Given the description of an element on the screen output the (x, y) to click on. 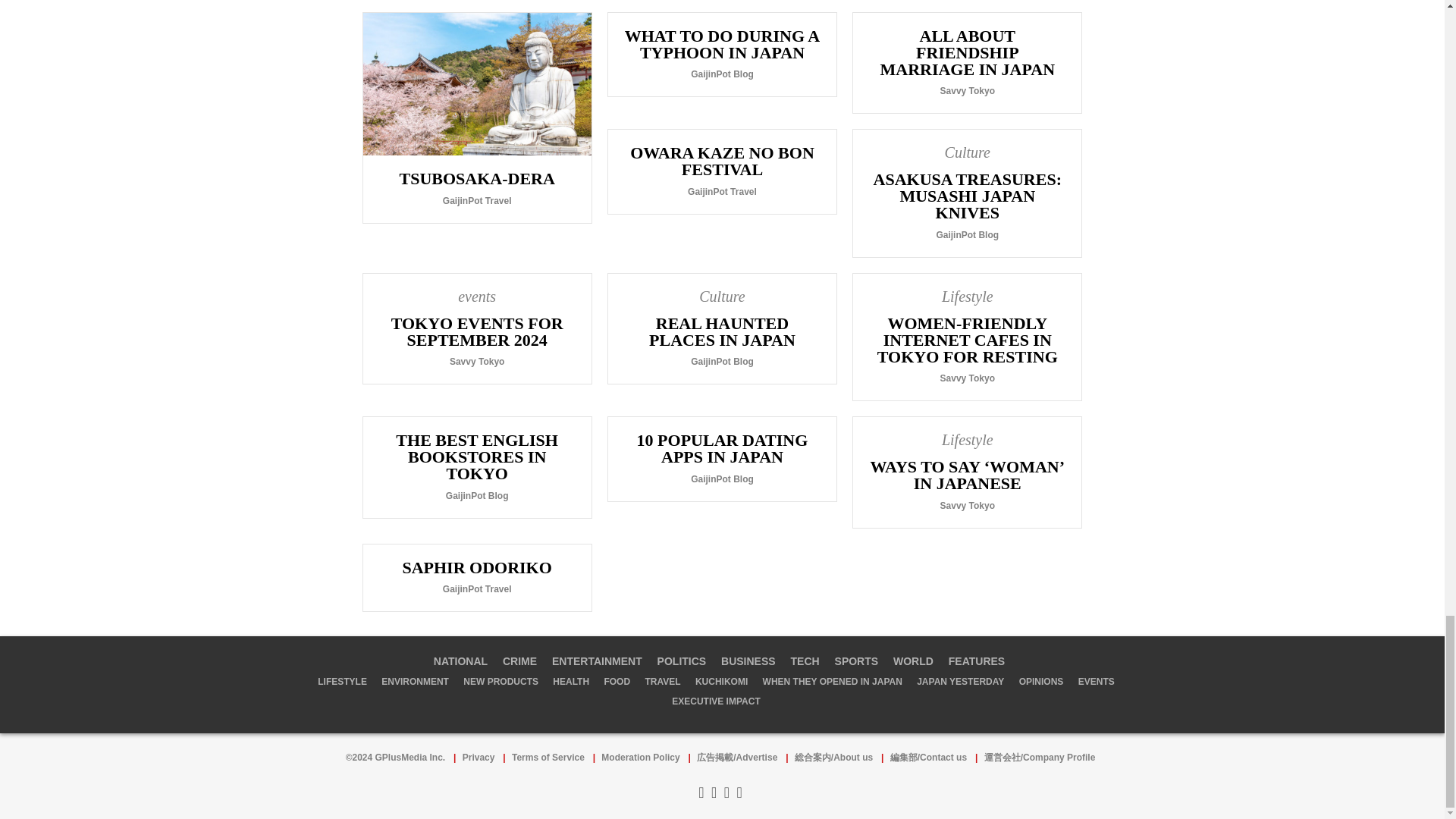
What To Do During A Typhoon in Japan (721, 54)
Real Haunted Places in Japan (721, 328)
The Best English Bookstores in Tokyo (476, 466)
Asakusa Treasures: Musashi Japan Knives (967, 192)
Tokyo Events For September 2024 (476, 328)
All About Friendship Marriage in Japan (967, 63)
Women-Friendly Internet Cafes in Tokyo for Resting (967, 336)
Owara Kaze no Bon Festival (721, 170)
Tsubosaka-dera (476, 117)
